Given the description of an element on the screen output the (x, y) to click on. 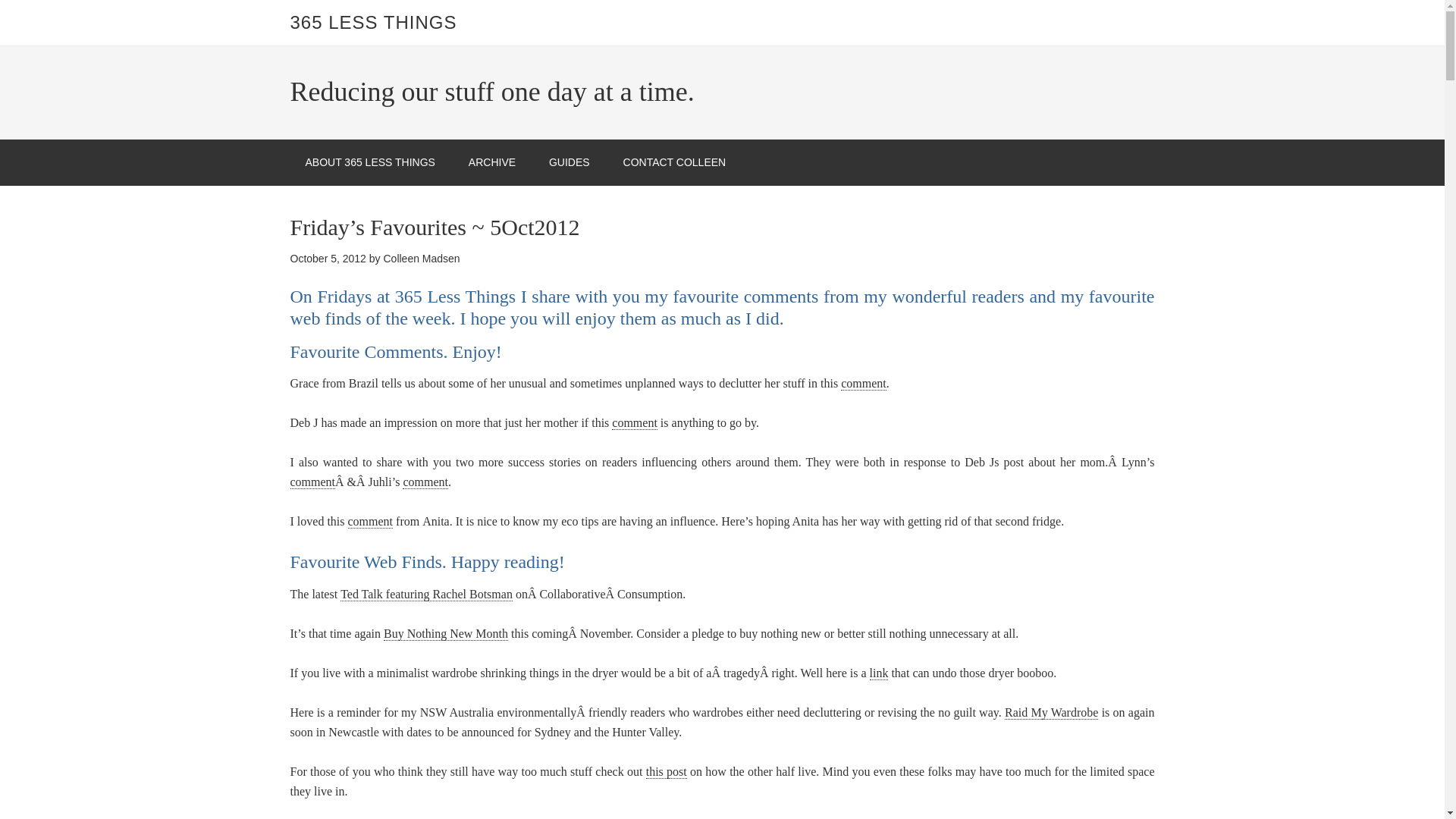
comment (425, 481)
GUIDES (569, 162)
365 LESS THINGS (373, 22)
Buy Nothing New Month (446, 633)
Raid My Wardrobe (1050, 712)
link (878, 673)
ARCHIVE (491, 162)
Colleen Madsen (421, 258)
comment (634, 422)
Ted Talk featuring Rachel Botsman (426, 594)
